Given the description of an element on the screen output the (x, y) to click on. 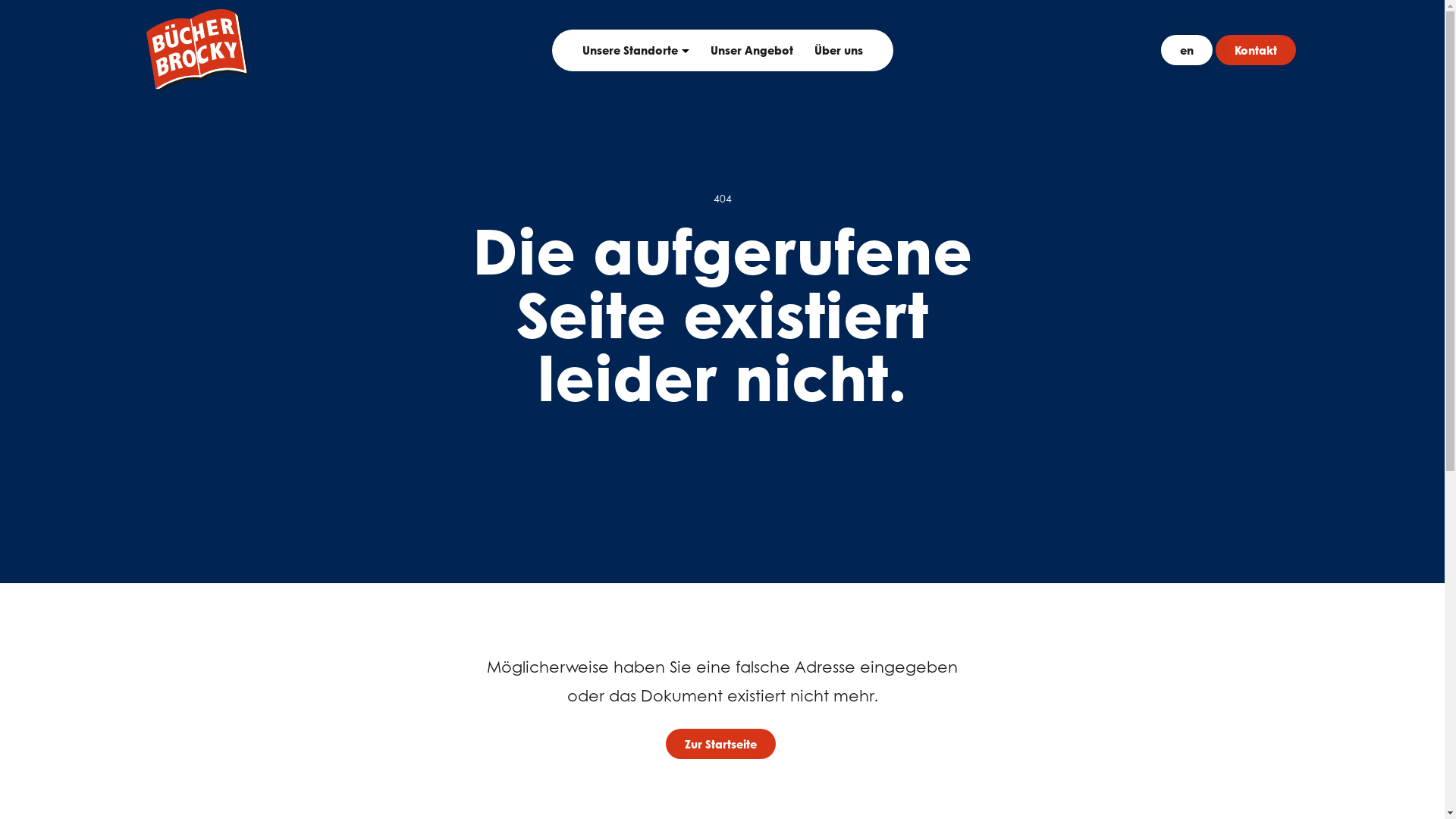
Unsere Standorte Element type: text (629, 49)
en Element type: text (1185, 49)
Zur Startseite Element type: text (720, 743)
Kontakt Element type: text (1254, 49)
Unser Angebot Element type: text (750, 49)
